Given the description of an element on the screen output the (x, y) to click on. 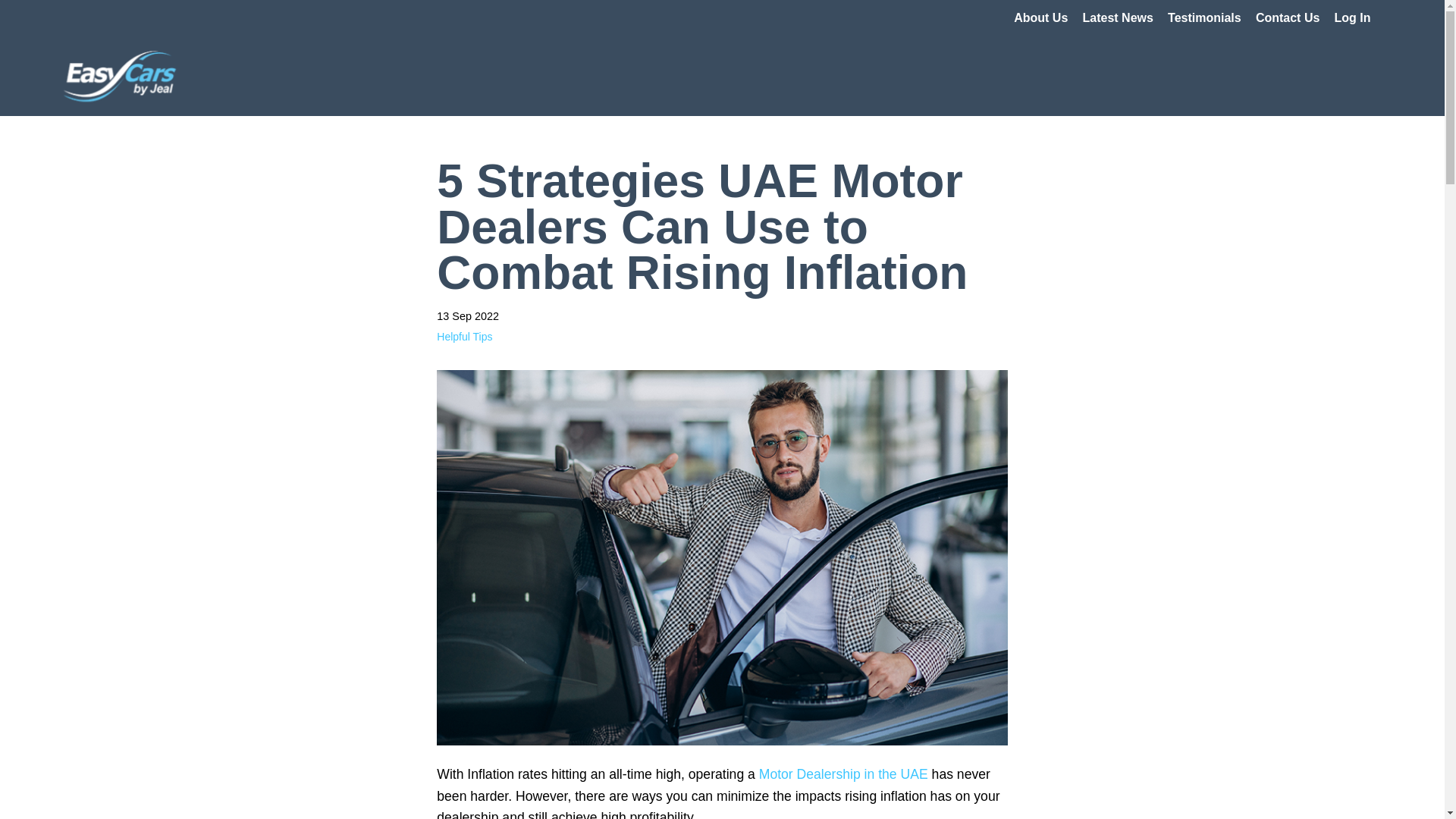
Motor Dealership in the UAE (843, 774)
Contact Us (1287, 17)
Log In (1353, 17)
EasyCars Dealer Management Software (120, 75)
About Us (1040, 17)
Latest News (1118, 17)
Helpful Tips (464, 336)
Testimonials (1204, 17)
